Given the description of an element on the screen output the (x, y) to click on. 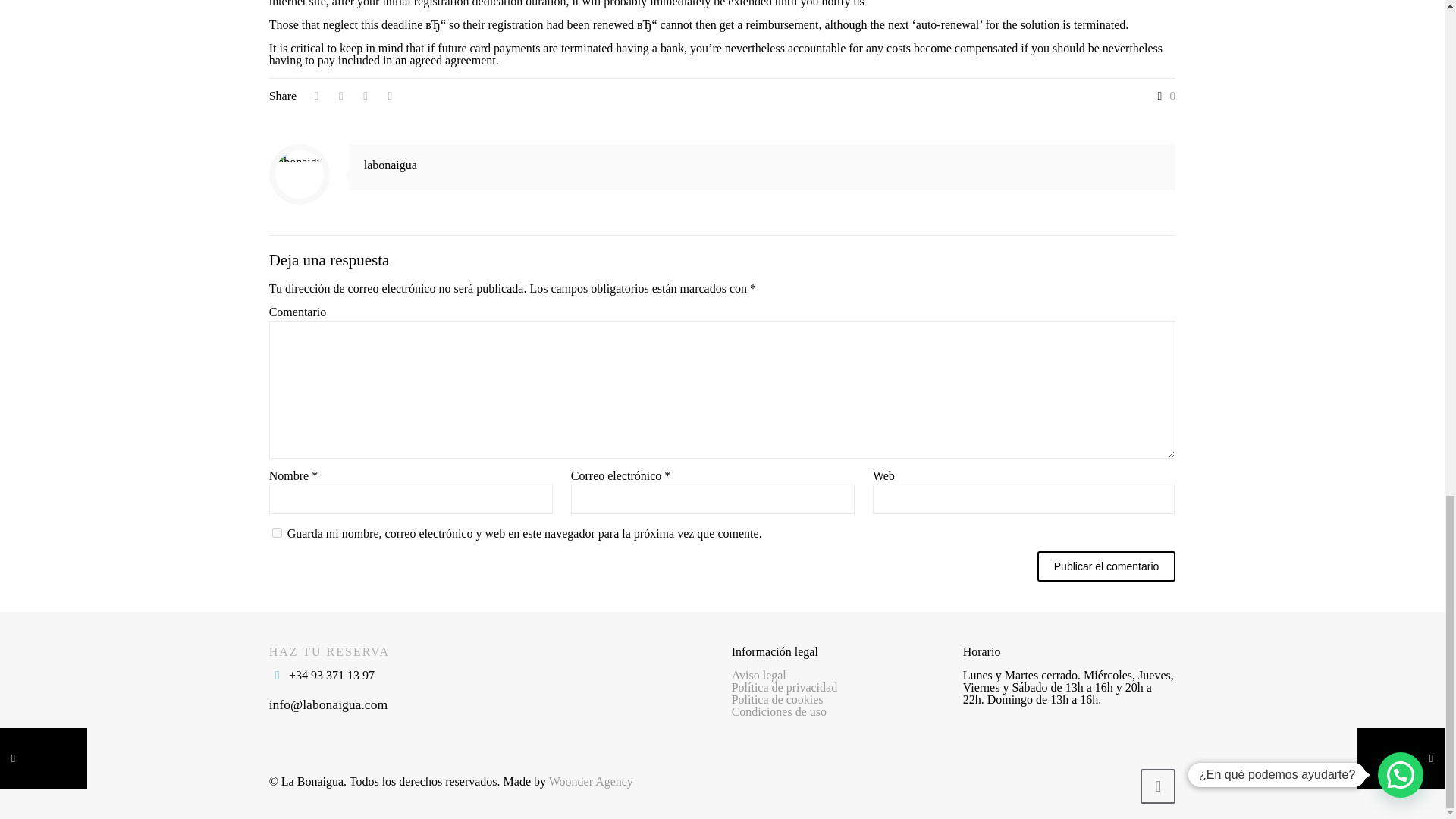
0 (1162, 96)
Condiciones de uso (779, 711)
labonaigua (390, 164)
Aviso legal (759, 675)
Publicar el comentario (1106, 566)
Publicar el comentario (1106, 566)
yes (277, 532)
Woonder Agency (590, 780)
